Given the description of an element on the screen output the (x, y) to click on. 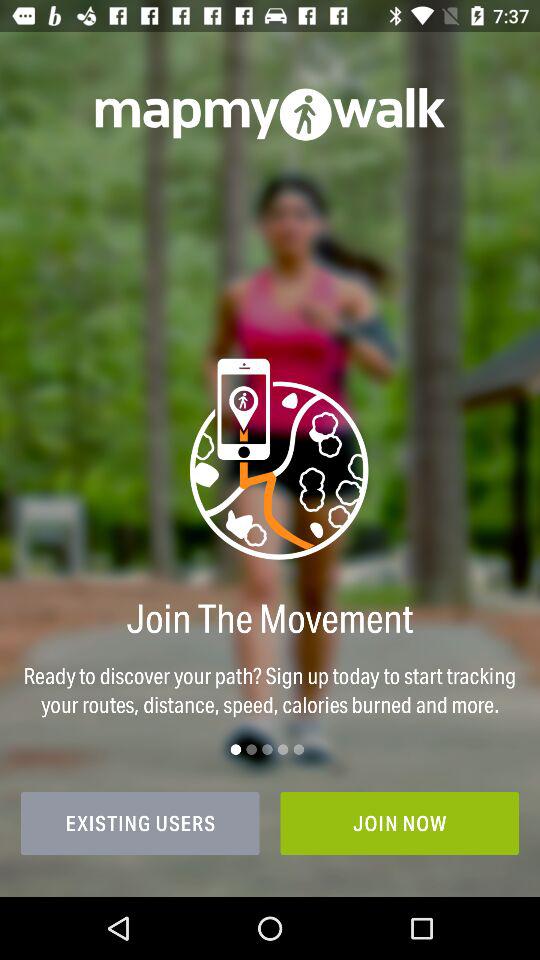
click icon next to the join now item (140, 823)
